Given the description of an element on the screen output the (x, y) to click on. 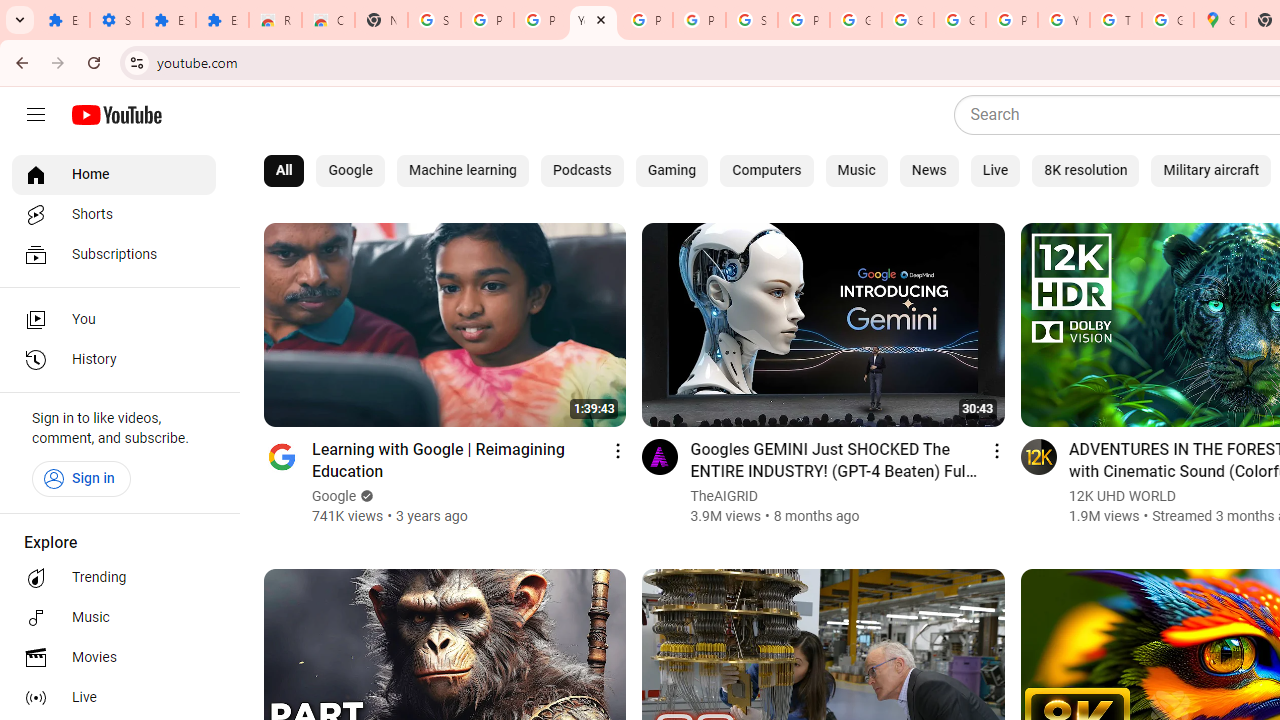
Reviews: Helix Fruit Jump Arcade Game (275, 20)
